Given the description of an element on the screen output the (x, y) to click on. 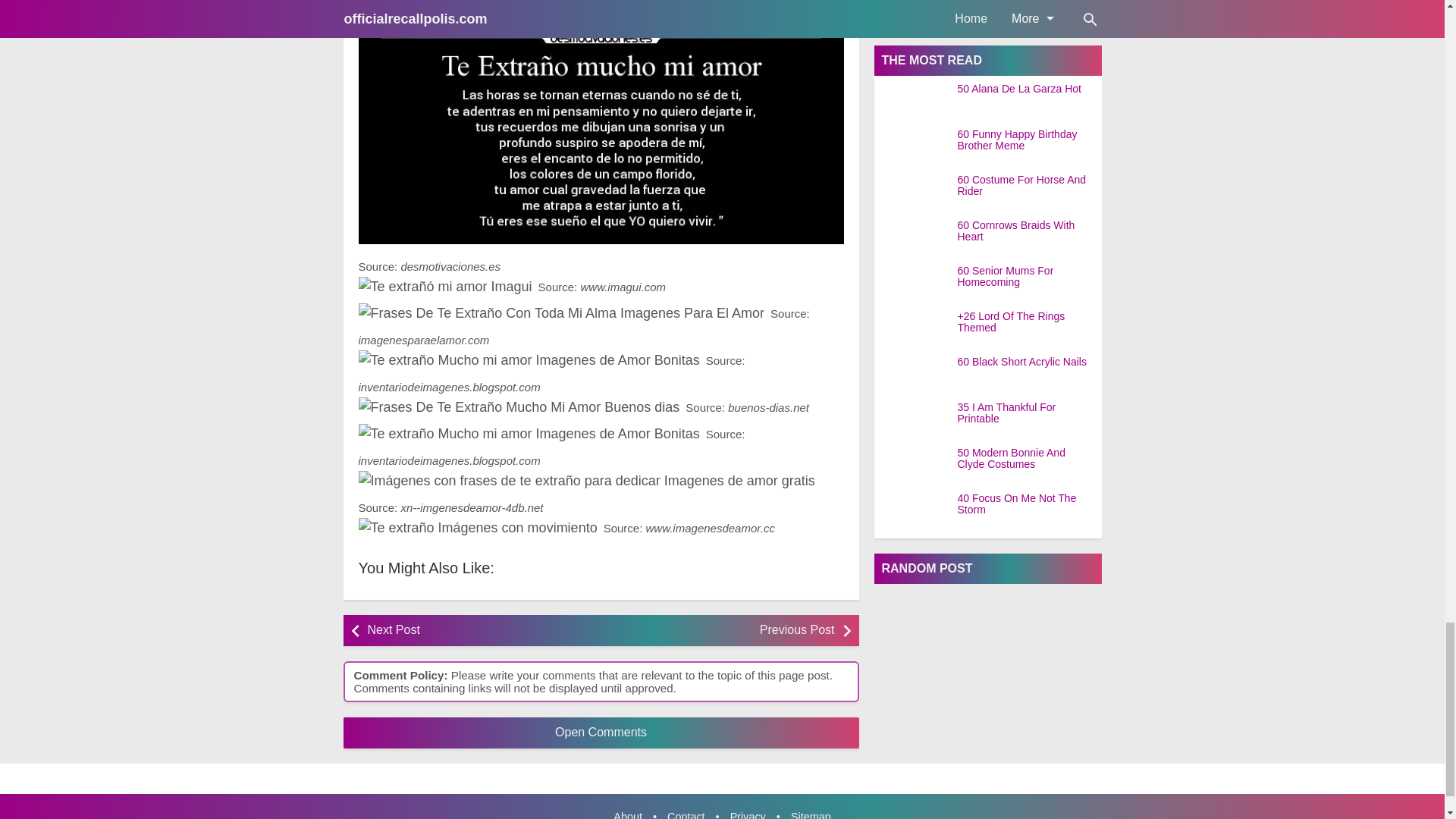
Older Post (721, 630)
Next Post (479, 630)
Previous Post (721, 630)
Newer Post (479, 630)
